Given the description of an element on the screen output the (x, y) to click on. 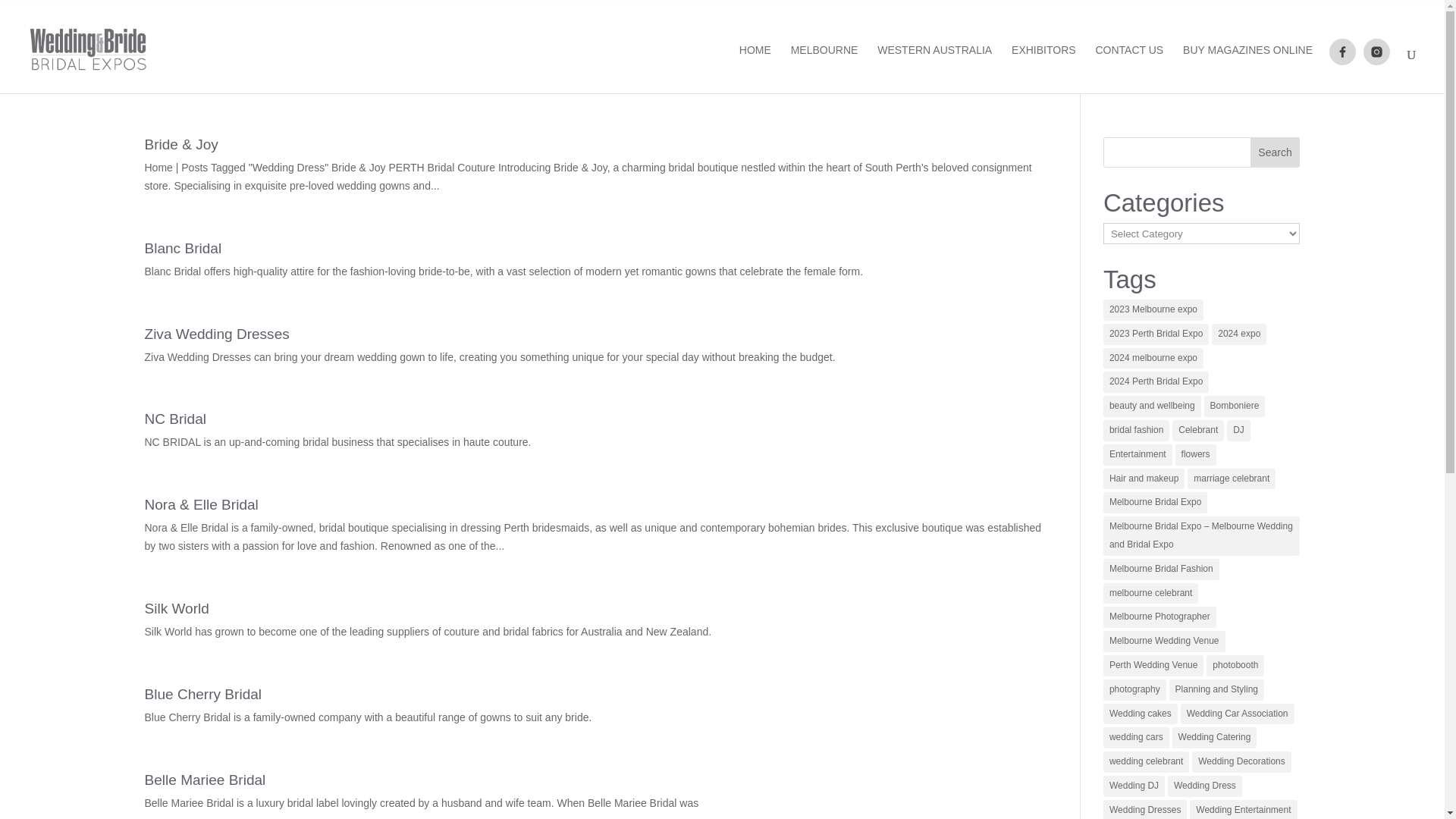
2023 Perth Bridal Expo (1155, 333)
Ziva Wedding Dresses (216, 333)
Silk World (176, 608)
NC Bridal (175, 418)
Search (1275, 152)
BUY MAGAZINES ONLINE (1247, 69)
2024 melbourne expo (1153, 358)
Blue Cherry Bridal (203, 693)
Blanc Bridal (182, 248)
Belle Mariee Bridal (204, 779)
